Given the description of an element on the screen output the (x, y) to click on. 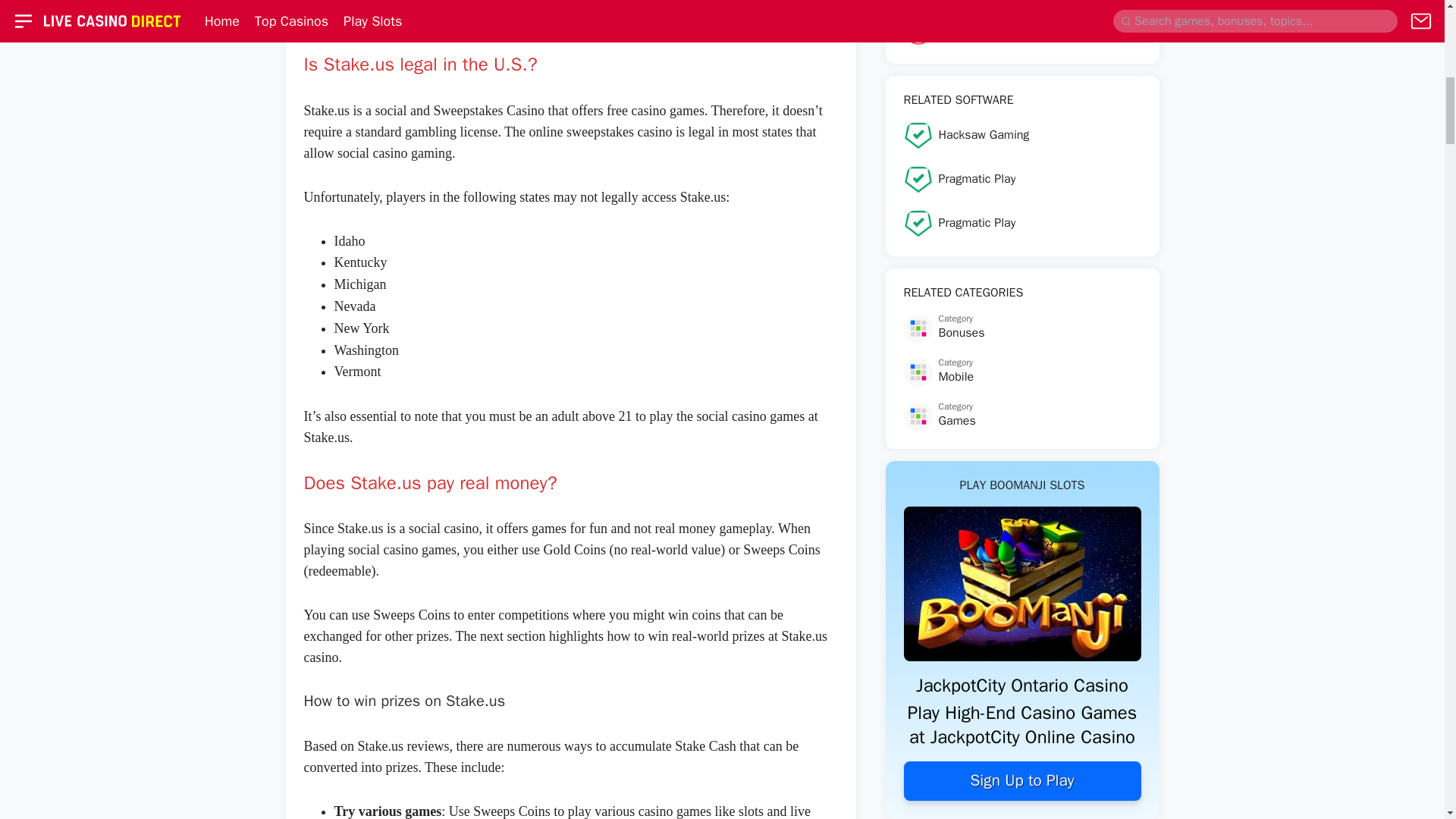
Slot Game of the Month: Boomanji Slots (1022, 91)
